Given the description of an element on the screen output the (x, y) to click on. 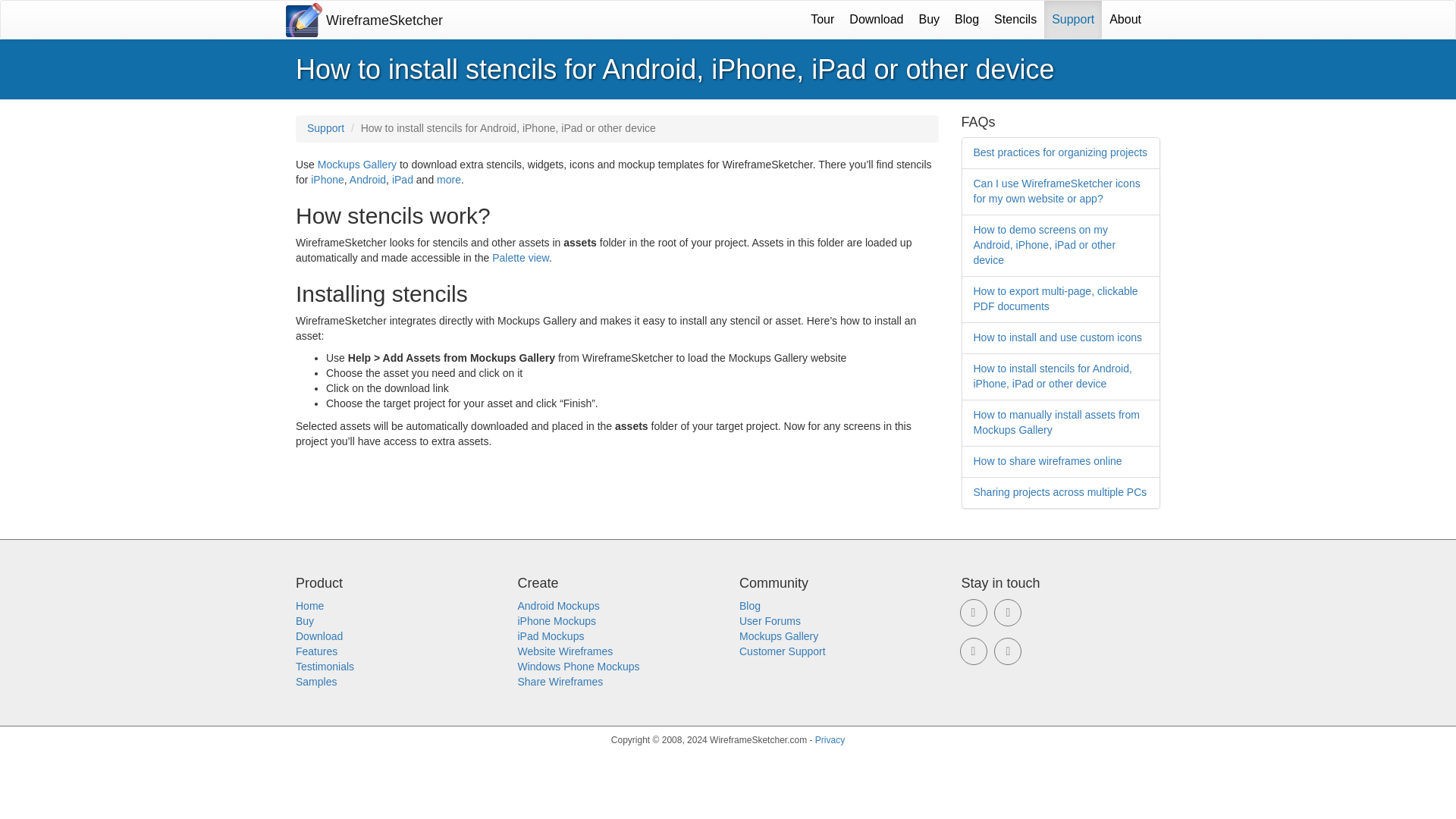
Share Wireframes (559, 681)
Blog (967, 19)
Download (876, 19)
How to share wireframes online (1048, 460)
Support (1072, 19)
more (448, 179)
iPad Mockups (549, 635)
Best practices for organizing projects (1061, 152)
Home (309, 605)
iPhone (327, 179)
Subcribe to our Blog (1008, 651)
About (1125, 19)
How to export multi-page, clickable PDF documents (1056, 298)
Palette view (520, 257)
